Given the description of an element on the screen output the (x, y) to click on. 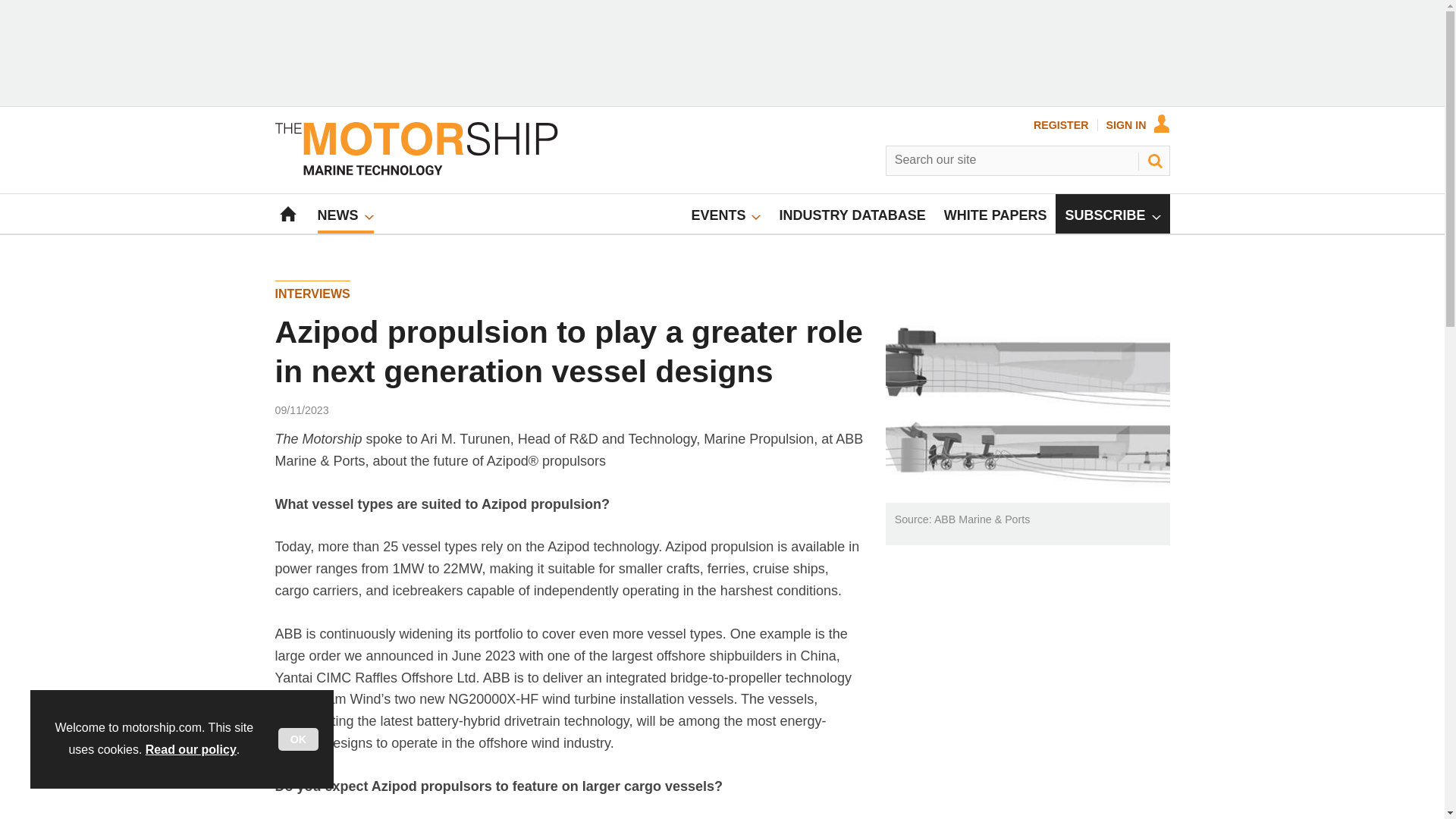
SIGN IN (1138, 124)
OK (298, 739)
REGISTER (1061, 124)
The Motorship - Marine technology (416, 170)
SEARCH (1153, 160)
3rd party ad content (722, 53)
Read our policy (190, 748)
